Given the description of an element on the screen output the (x, y) to click on. 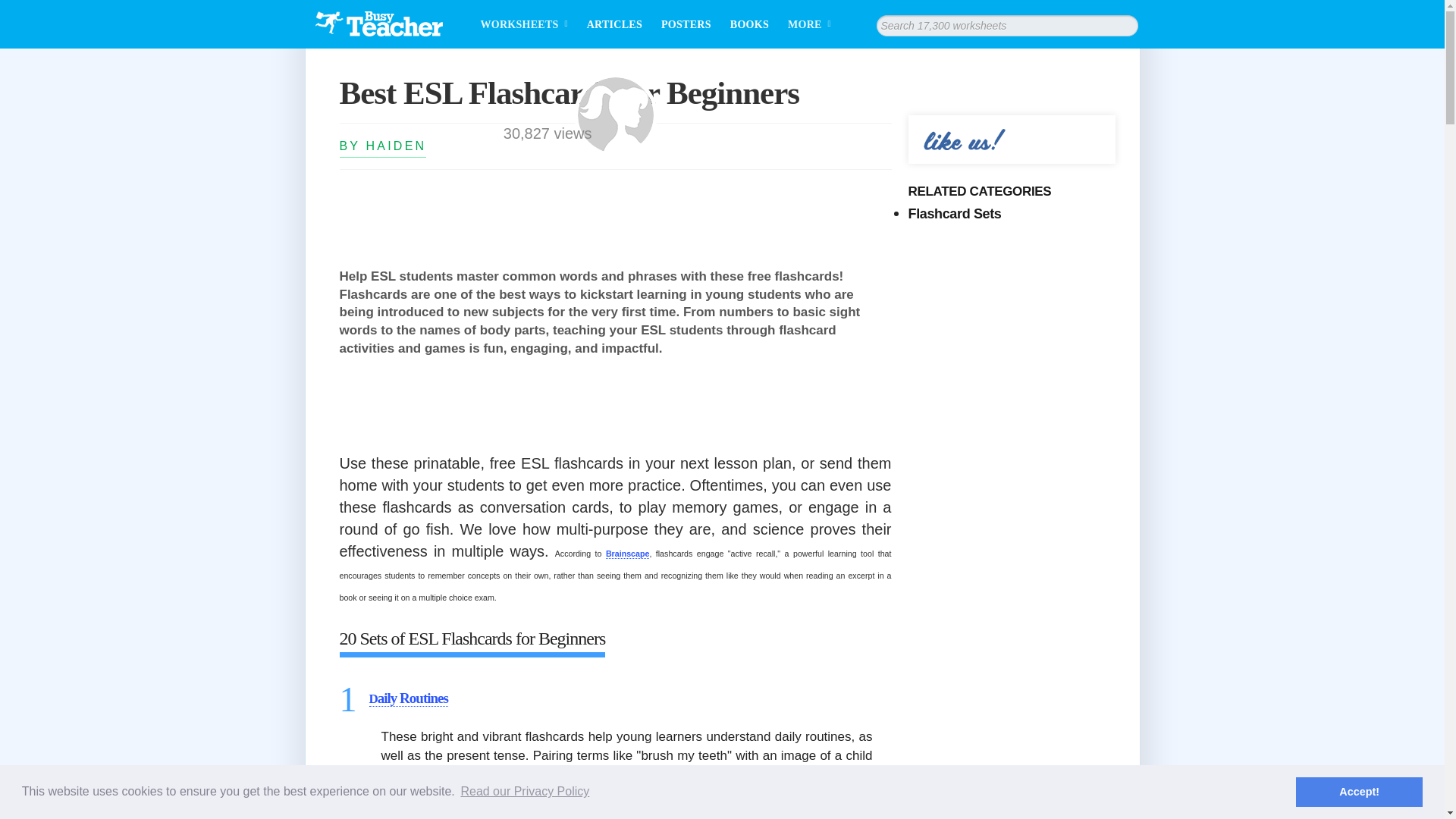
Accept! (1358, 791)
POSTERS (686, 24)
ARTICLES (614, 24)
MORE (818, 24)
Daily Routines (407, 698)
WORKSHEETS (533, 24)
Search 17,300 worksheets (1126, 25)
Search (7, 7)
BOOKS (749, 24)
Read our Privacy Policy (524, 791)
Brainscape (627, 553)
